Given the description of an element on the screen output the (x, y) to click on. 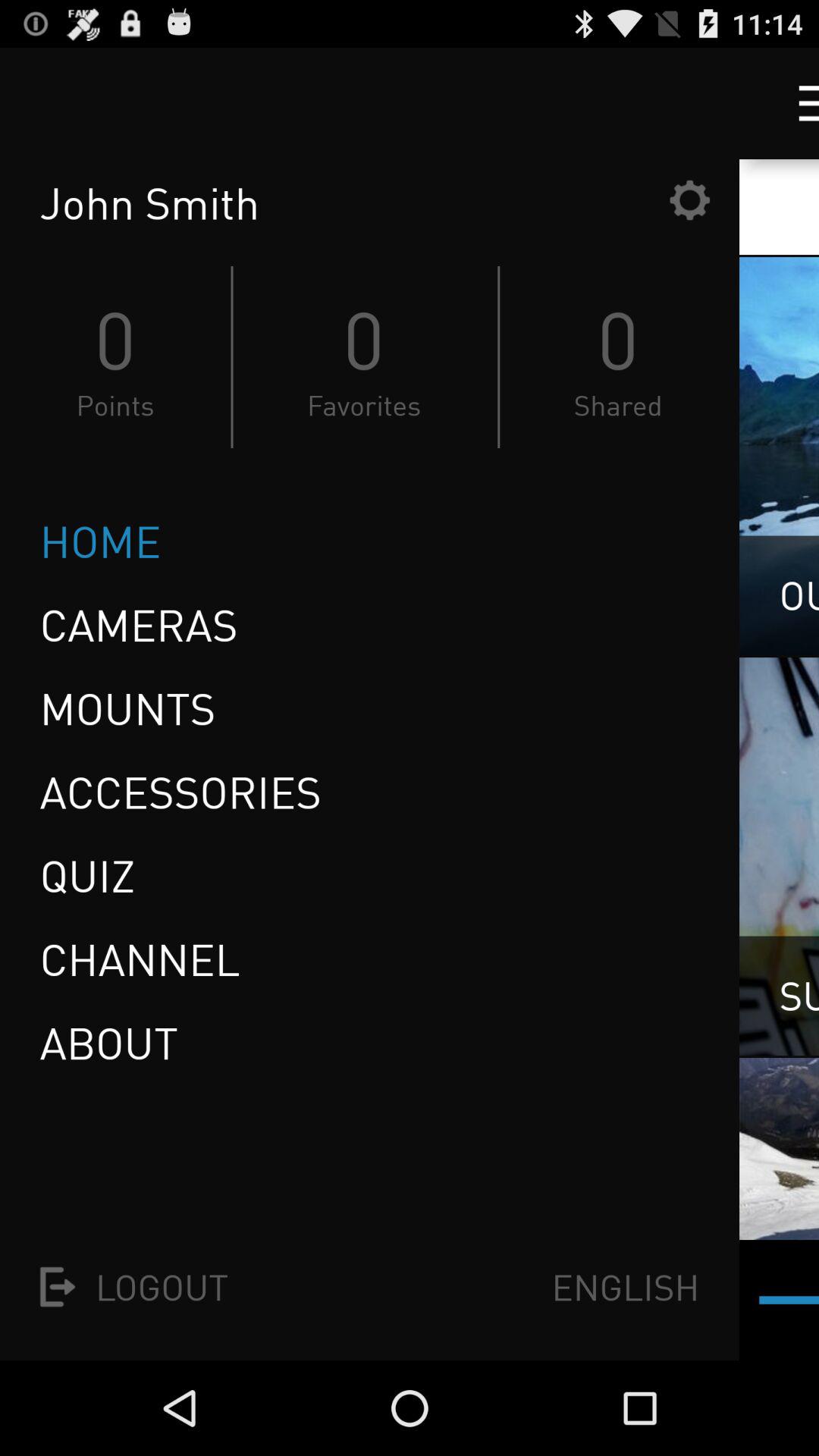
turn on icon to the right of the logout item (625, 1286)
